Given the description of an element on the screen output the (x, y) to click on. 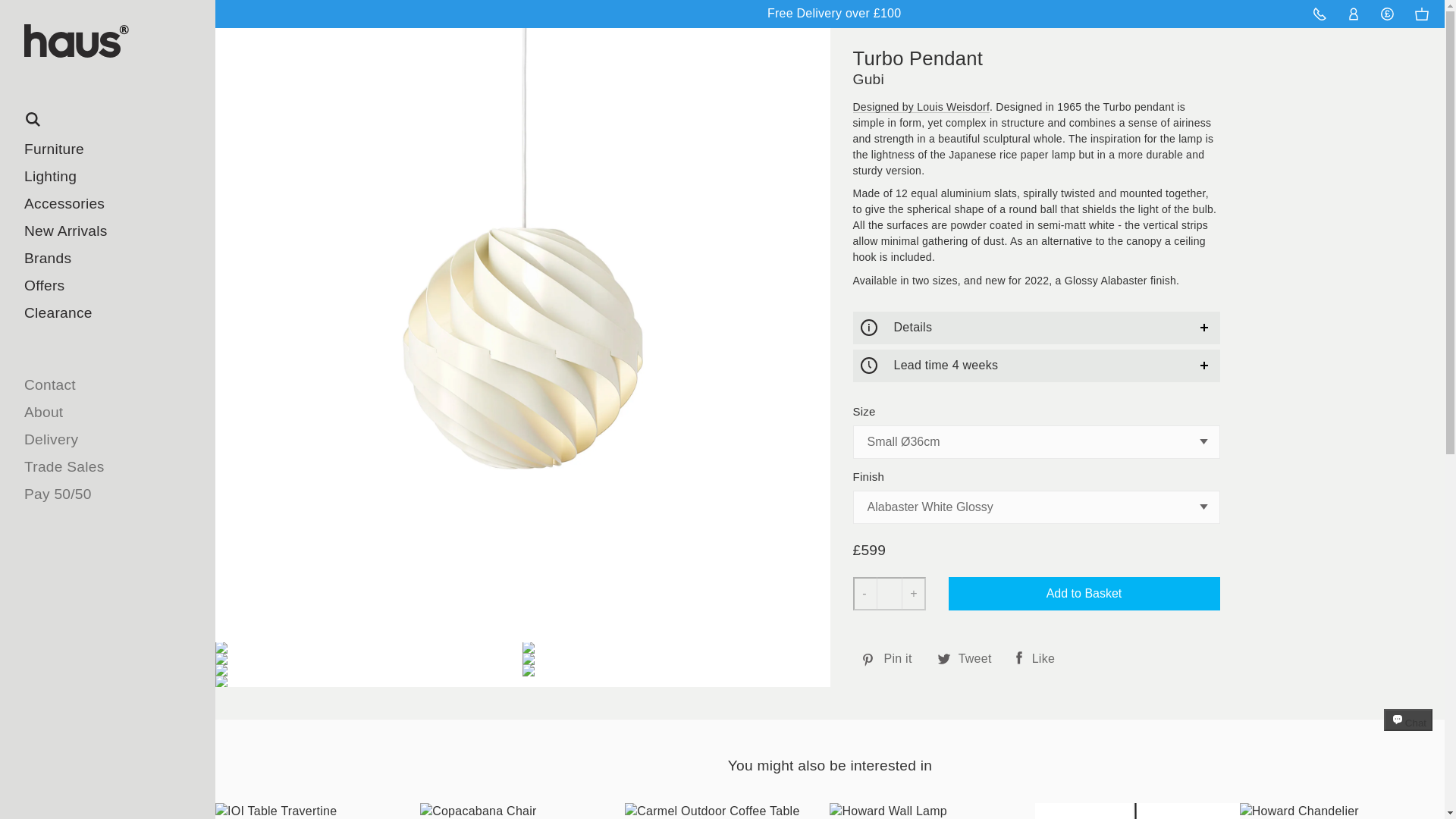
haus (115, 48)
Chairs (86, 176)
Search (107, 119)
Dining Tables (86, 312)
All Furniture (86, 148)
Trade Sales (107, 466)
Shopify online store chat (1408, 733)
Furniture (107, 148)
Storage (86, 393)
New Arrivals (107, 230)
